Given the description of an element on the screen output the (x, y) to click on. 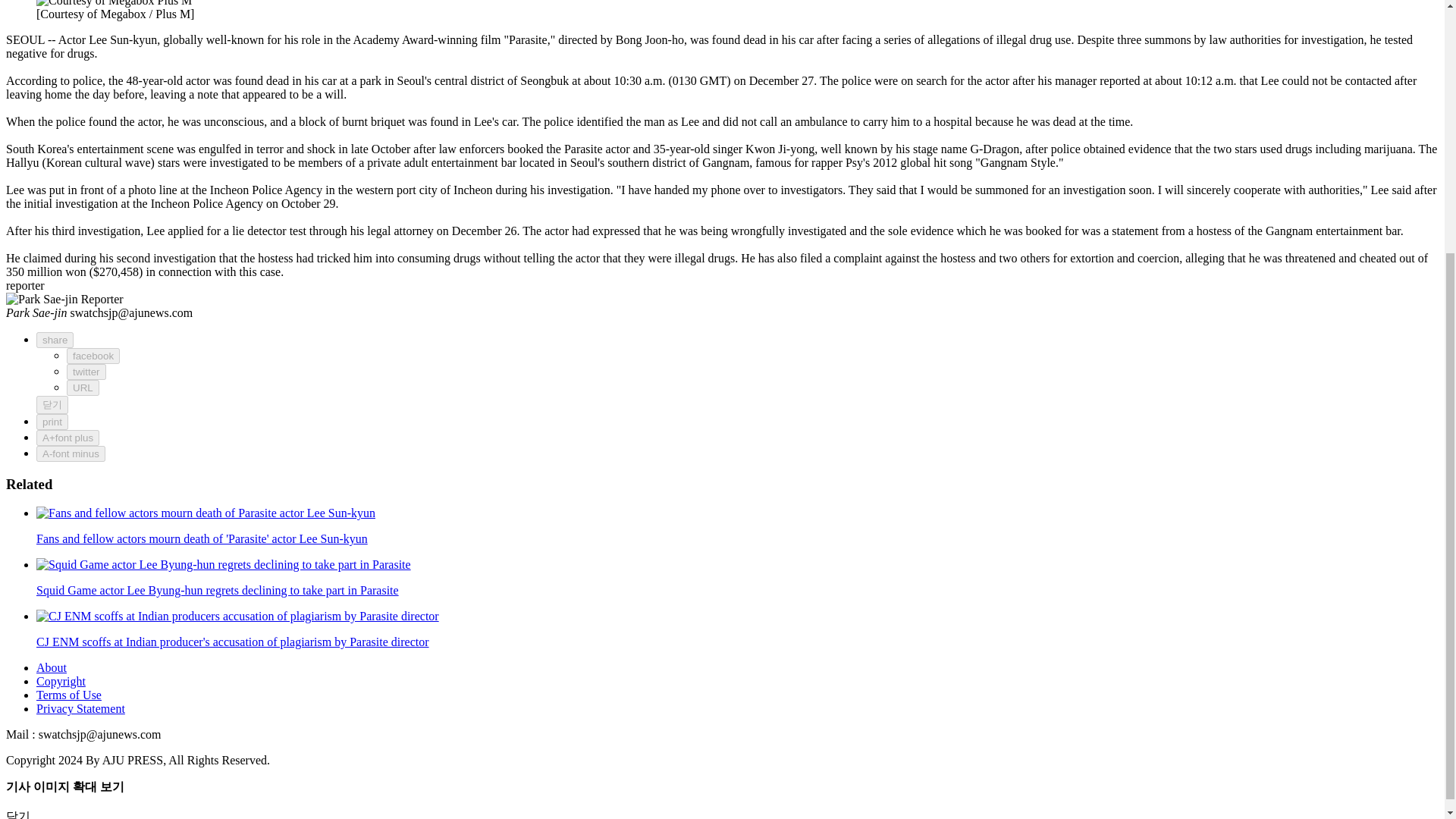
print (52, 421)
facebook (92, 355)
URL (82, 387)
Terms of Use (68, 694)
Privacy Statement (80, 707)
A-font minus (70, 453)
About (51, 667)
Copyright (60, 680)
twitter (86, 371)
share (55, 340)
